Given the description of an element on the screen output the (x, y) to click on. 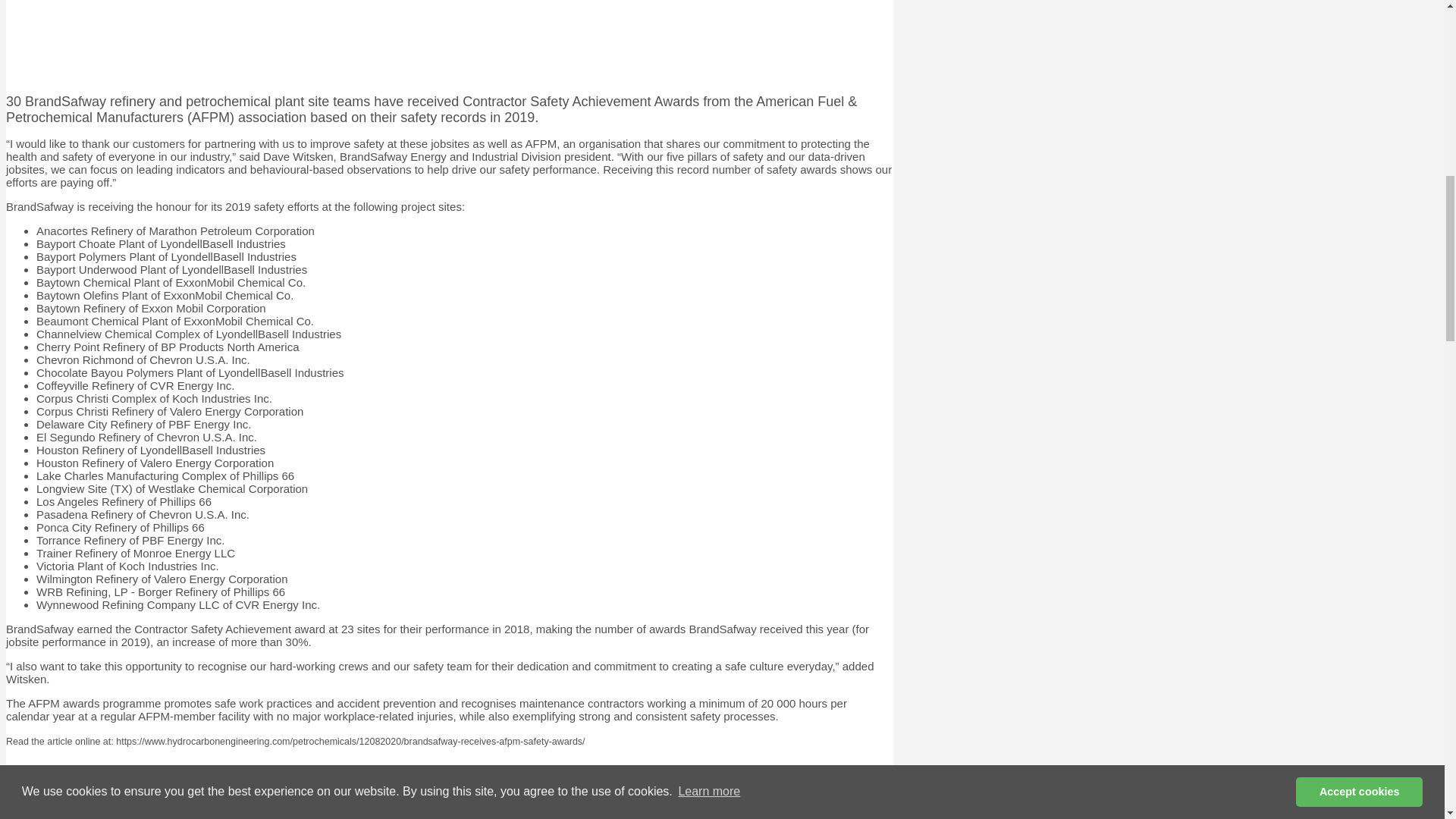
3rd party ad content (449, 40)
